Given the description of an element on the screen output the (x, y) to click on. 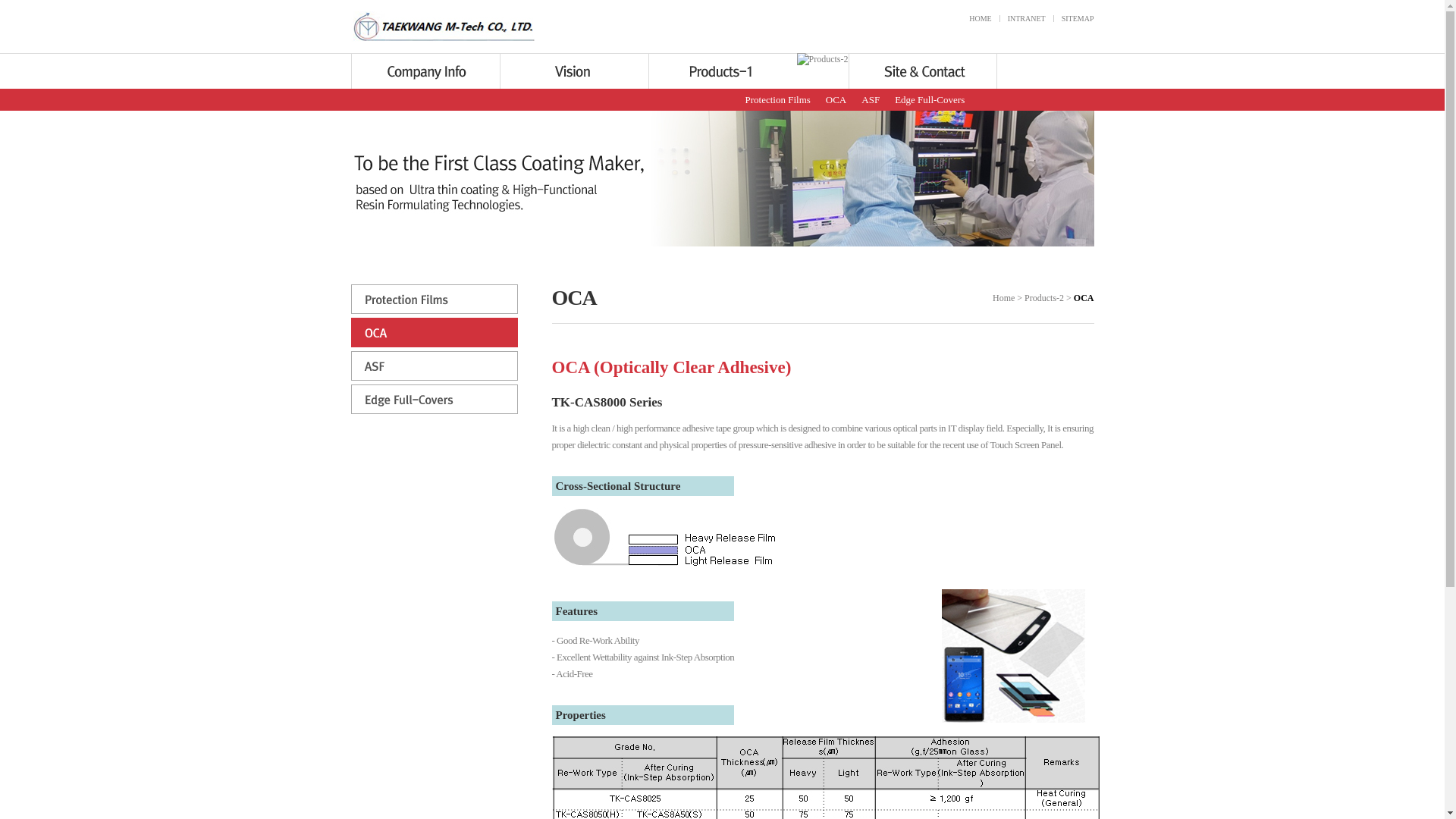
Protection Films (776, 99)
INTRANET (1026, 18)
SITEMAP (1077, 18)
Edge Full-Covers (929, 99)
OCA (835, 99)
HOME (980, 18)
ASF (870, 99)
